Given the description of an element on the screen output the (x, y) to click on. 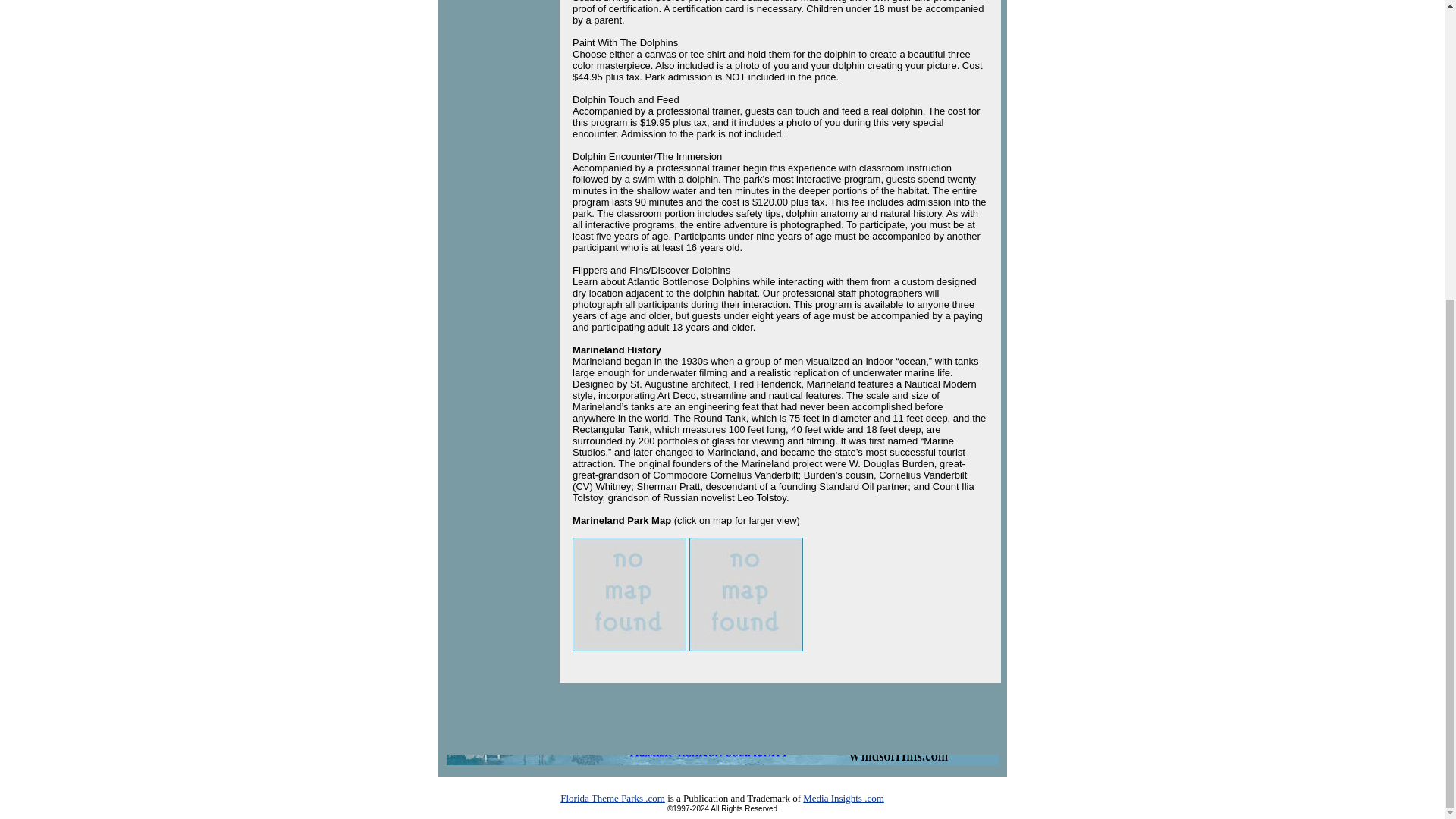
Advertisement (498, 44)
Media Insights .com (843, 797)
Florida Theme Parks .com (612, 797)
